Given the description of an element on the screen output the (x, y) to click on. 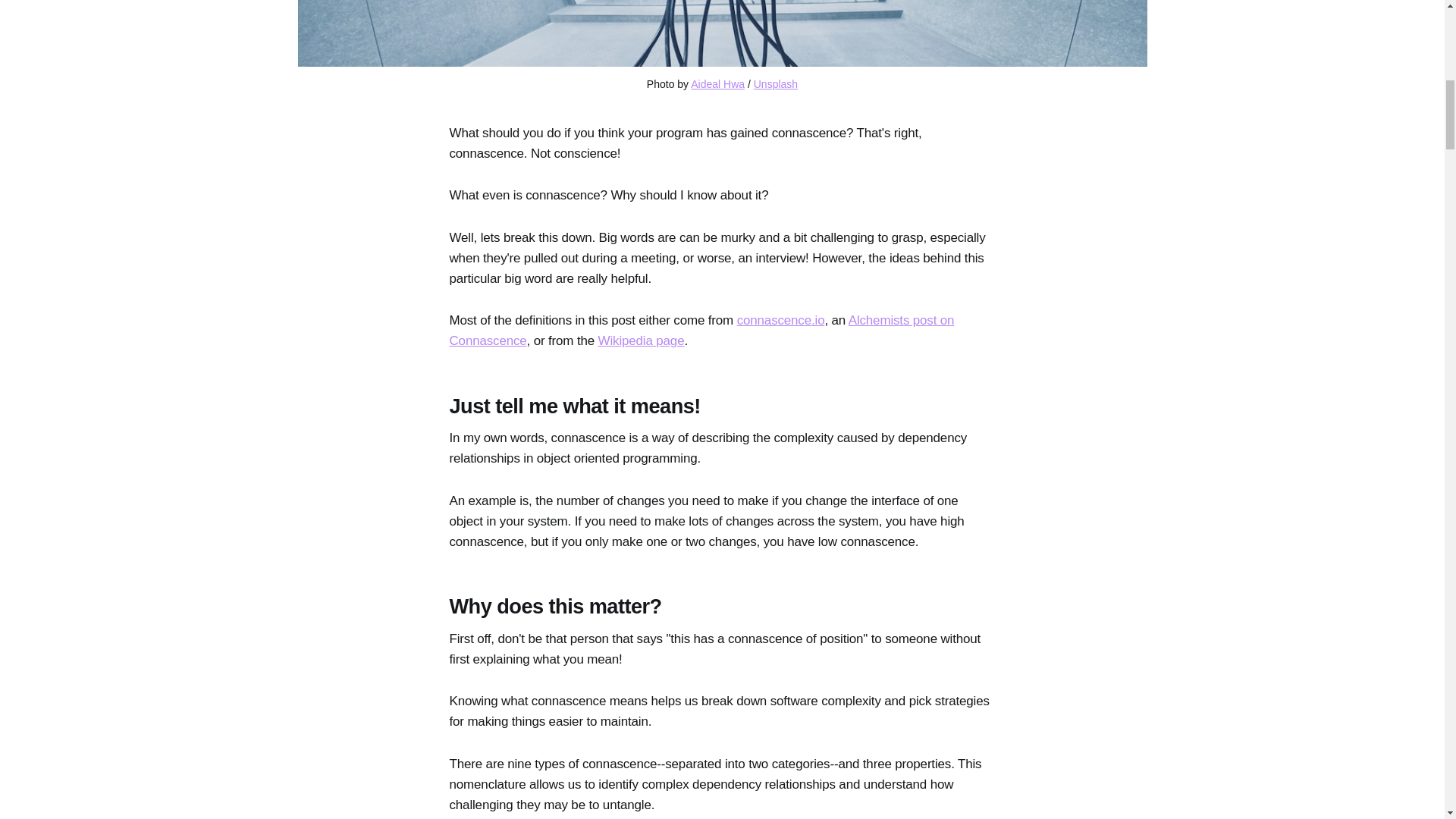
Wikipedia page (641, 340)
connascence.io (780, 319)
Alchemists post on Connascence (700, 330)
Unsplash (775, 83)
Aideal Hwa (717, 83)
